Given the description of an element on the screen output the (x, y) to click on. 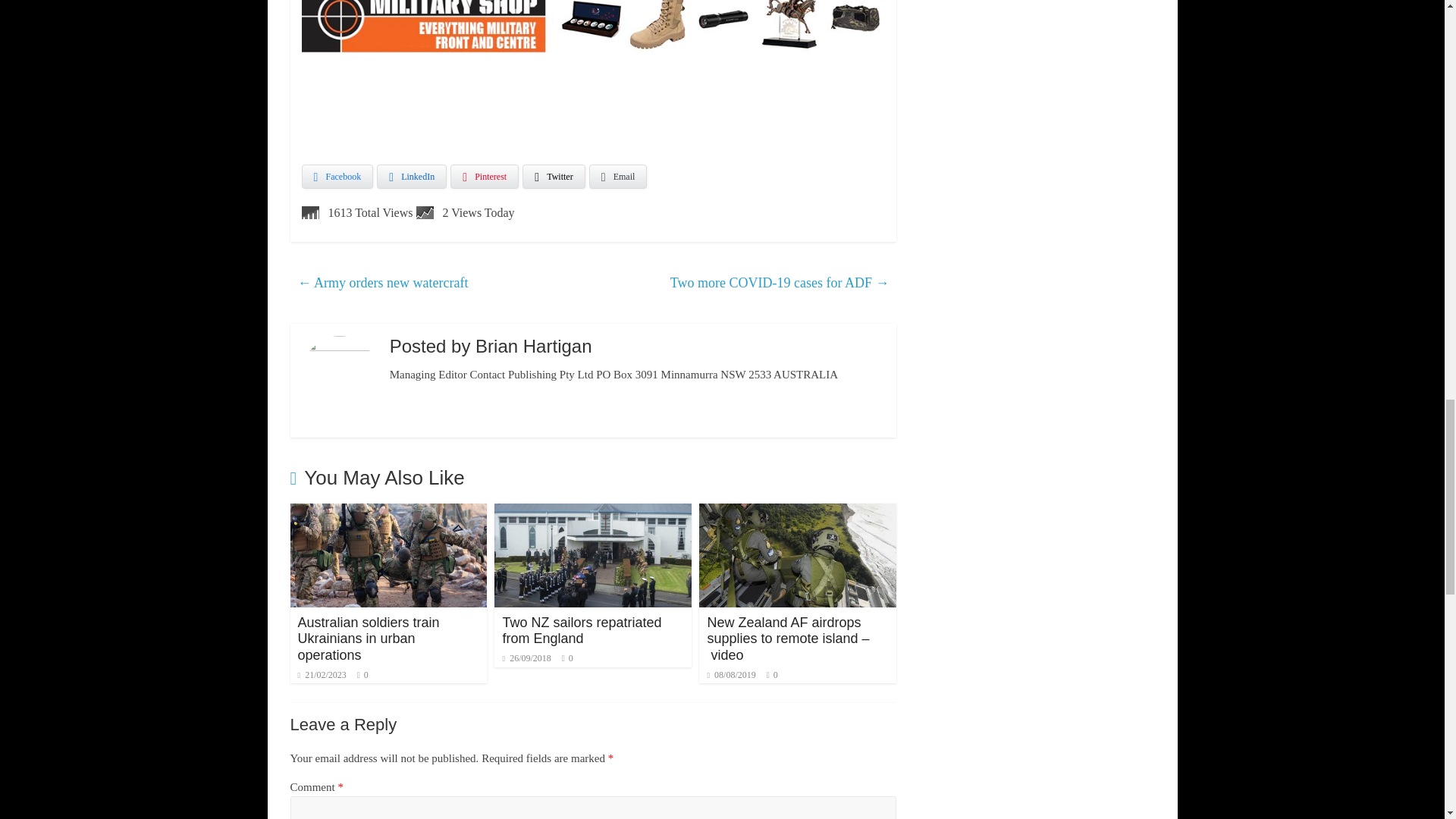
Pinterest (483, 176)
Facebook (337, 176)
LinkedIn (411, 176)
